Given the description of an element on the screen output the (x, y) to click on. 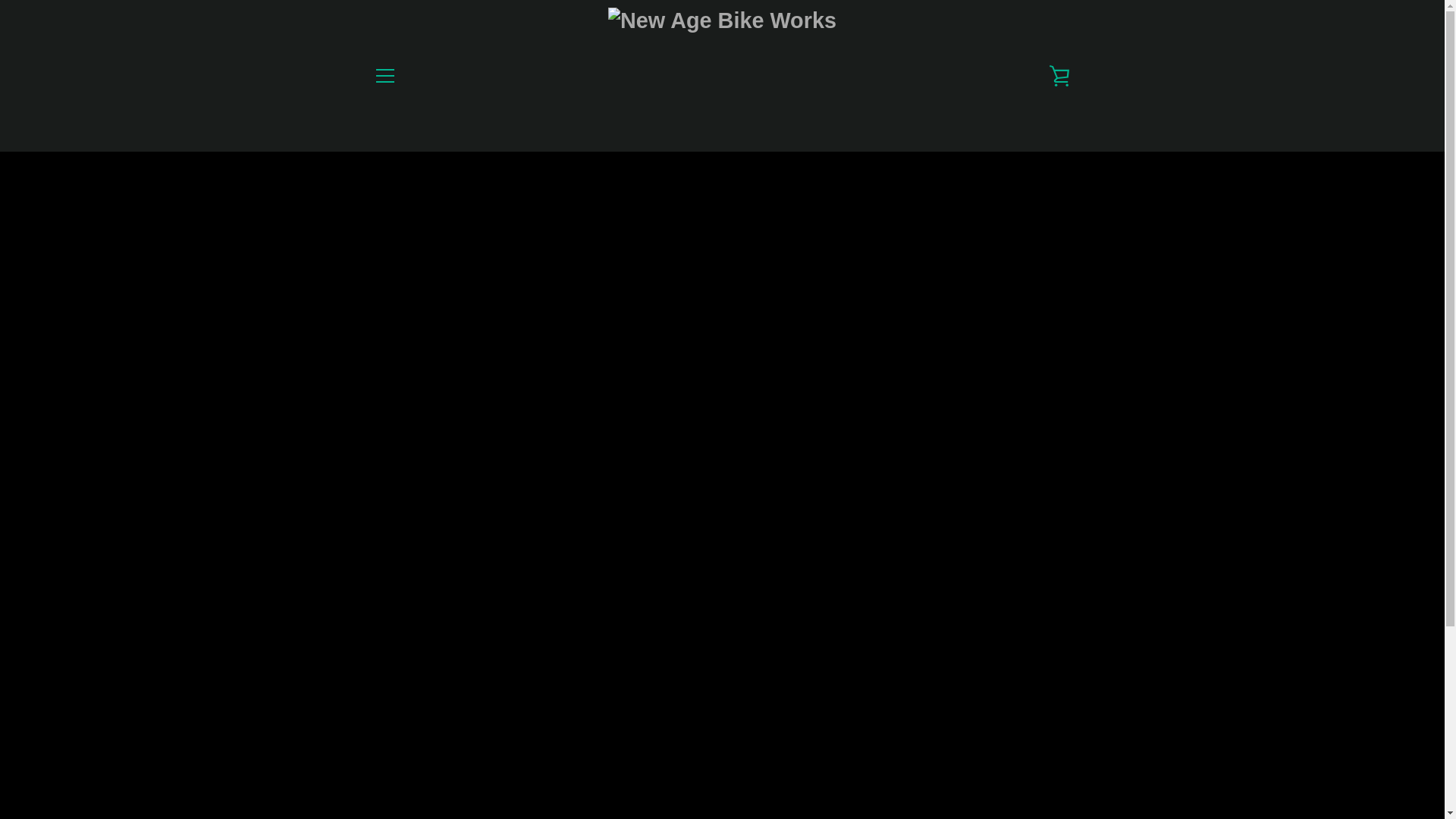
VIEW CART (1059, 75)
MENU (384, 75)
